Given the description of an element on the screen output the (x, y) to click on. 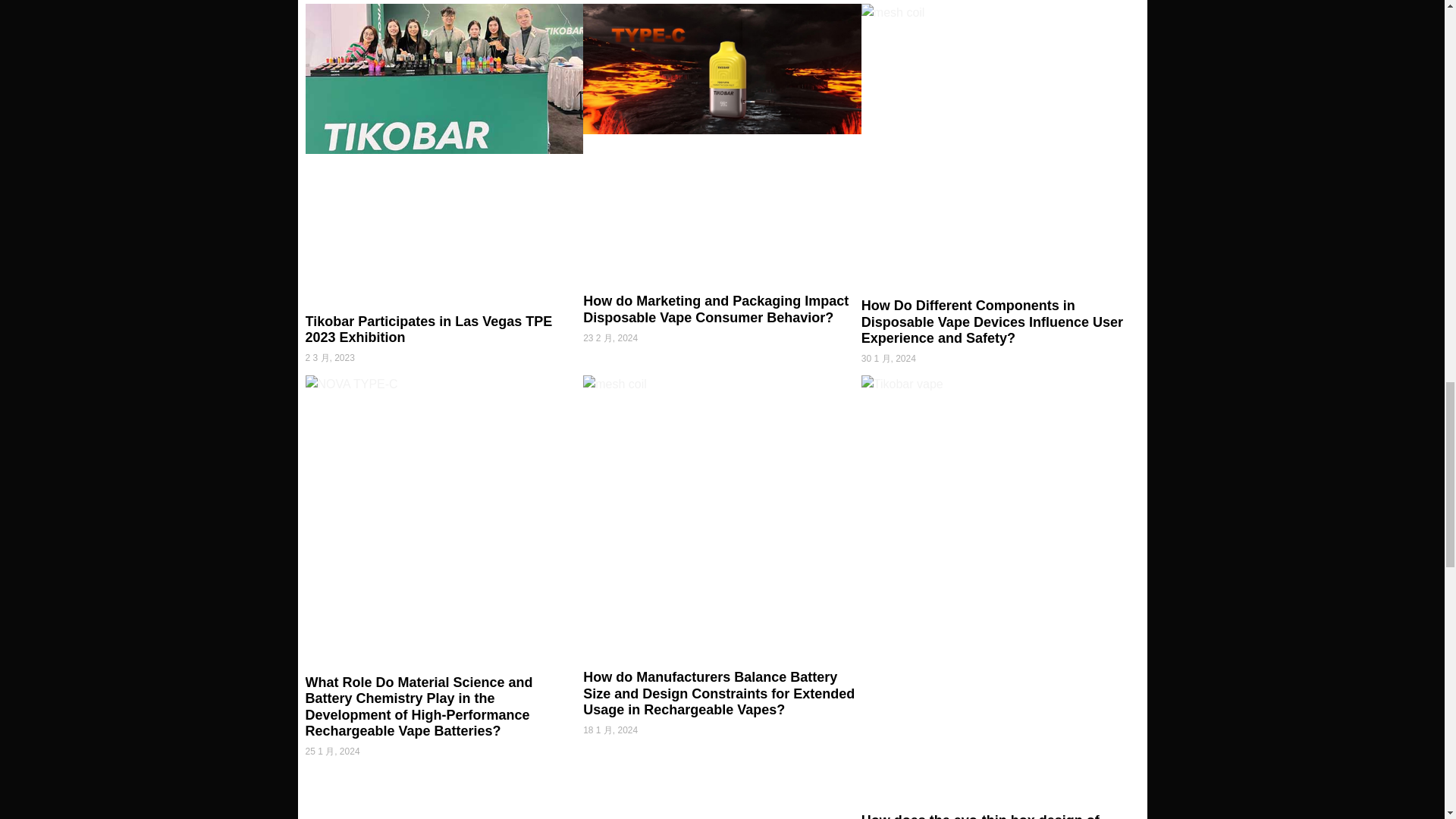
Tikobar Participates in Las Vegas TPE 2023 Exhibition (427, 329)
